Given the description of an element on the screen output the (x, y) to click on. 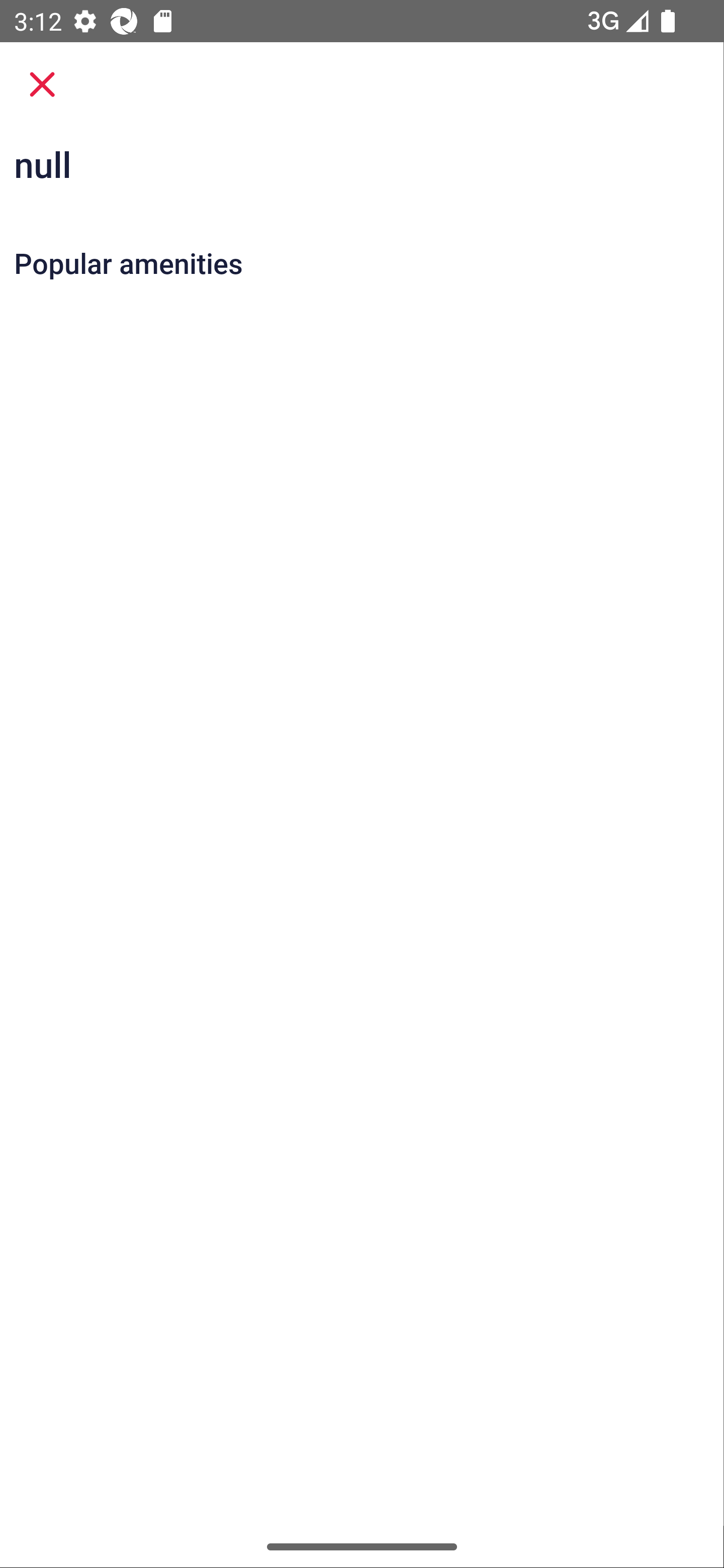
Close (42, 84)
